Given the description of an element on the screen output the (x, y) to click on. 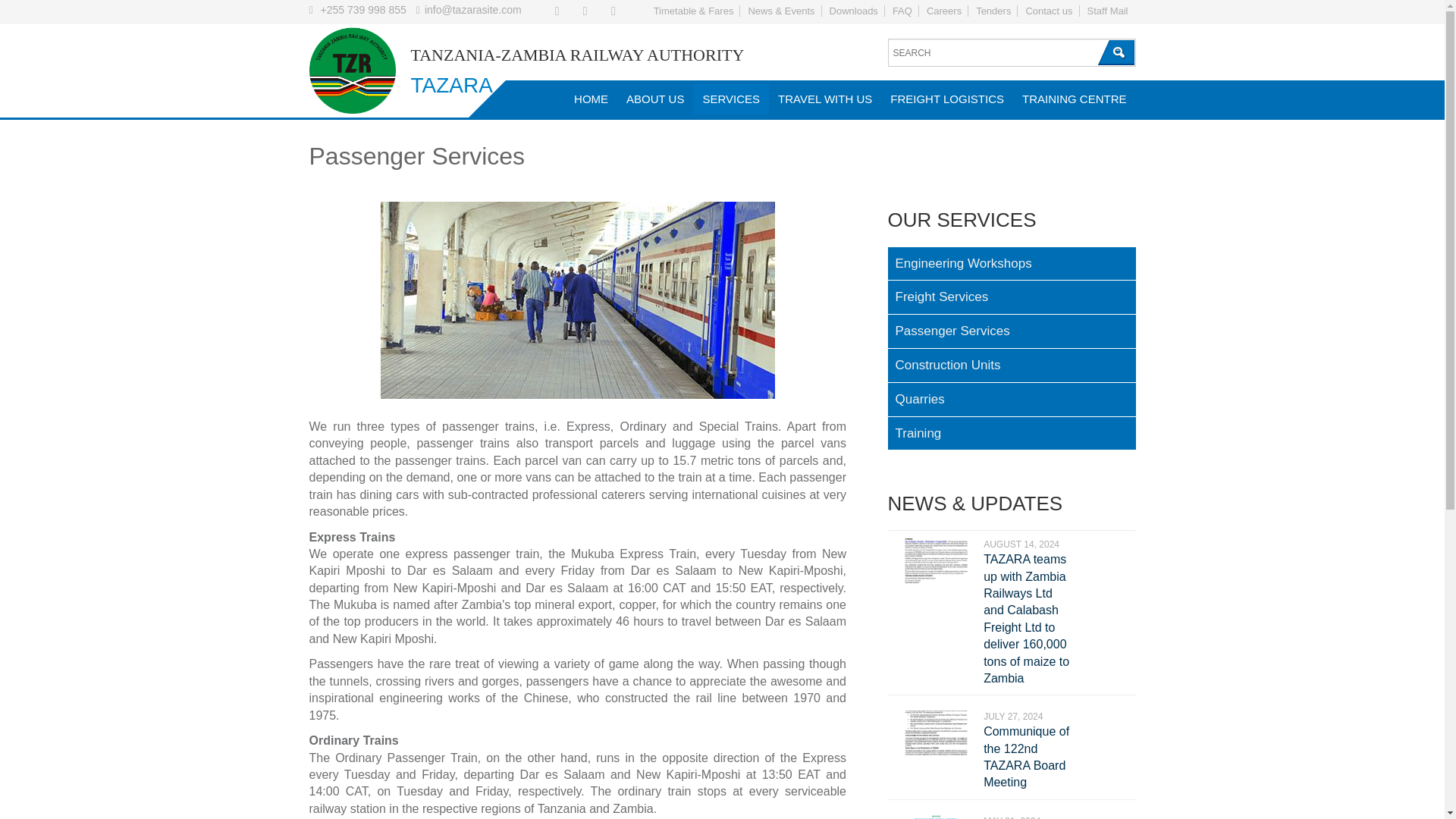
FAQ (902, 10)
Downloads (854, 10)
Enter the terms you wish to search for. (1010, 52)
HOME (590, 98)
SERVICES (730, 98)
TRAINING CENTRE (1074, 98)
Tenders (993, 10)
Contact us (1048, 10)
Staff Mail (1107, 10)
ABOUT US (655, 98)
